Given the description of an element on the screen output the (x, y) to click on. 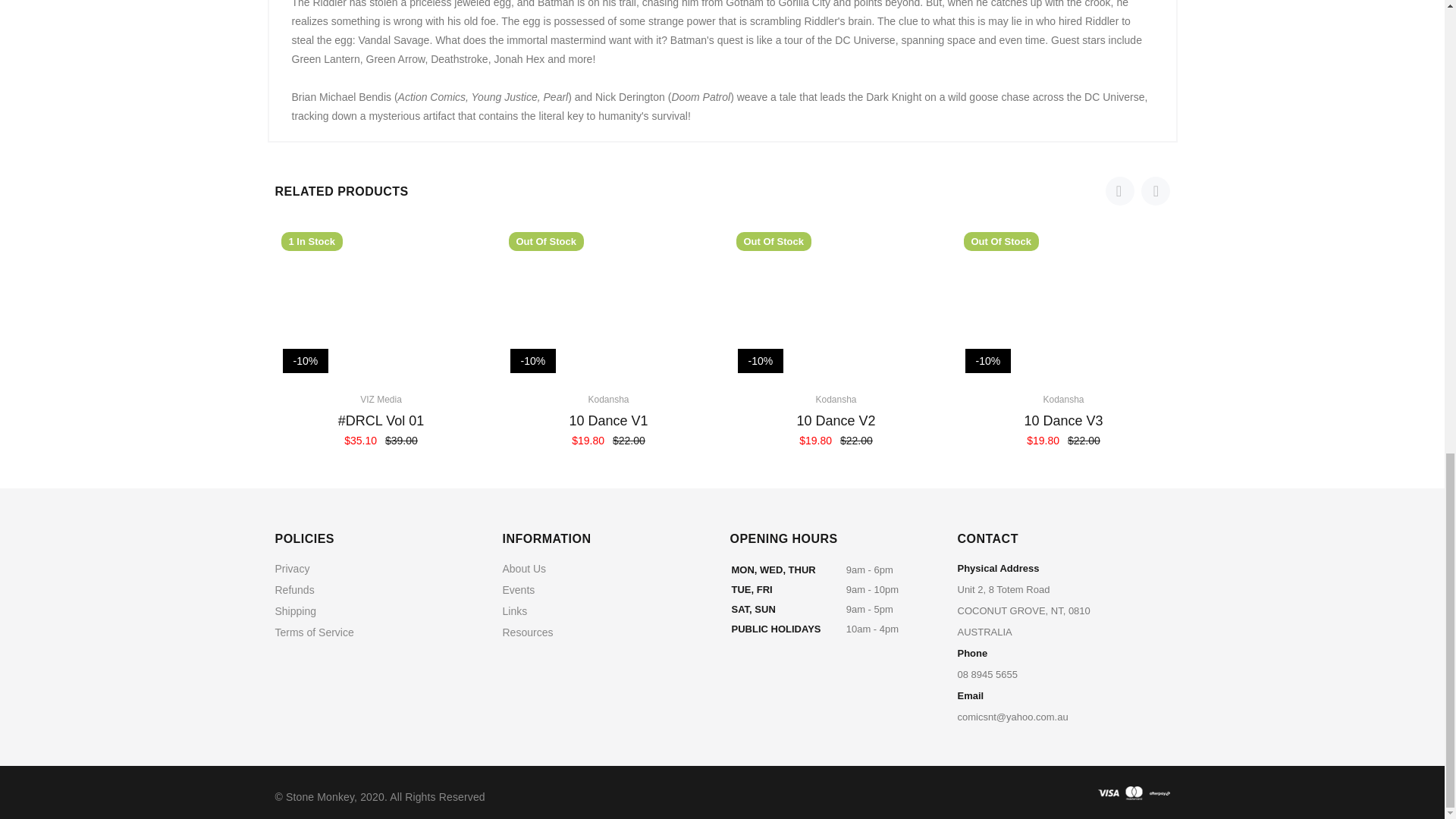
VIZ Media (380, 398)
Kodansha (1062, 398)
Kodansha (608, 398)
Kodansha (835, 398)
